Given the description of an element on the screen output the (x, y) to click on. 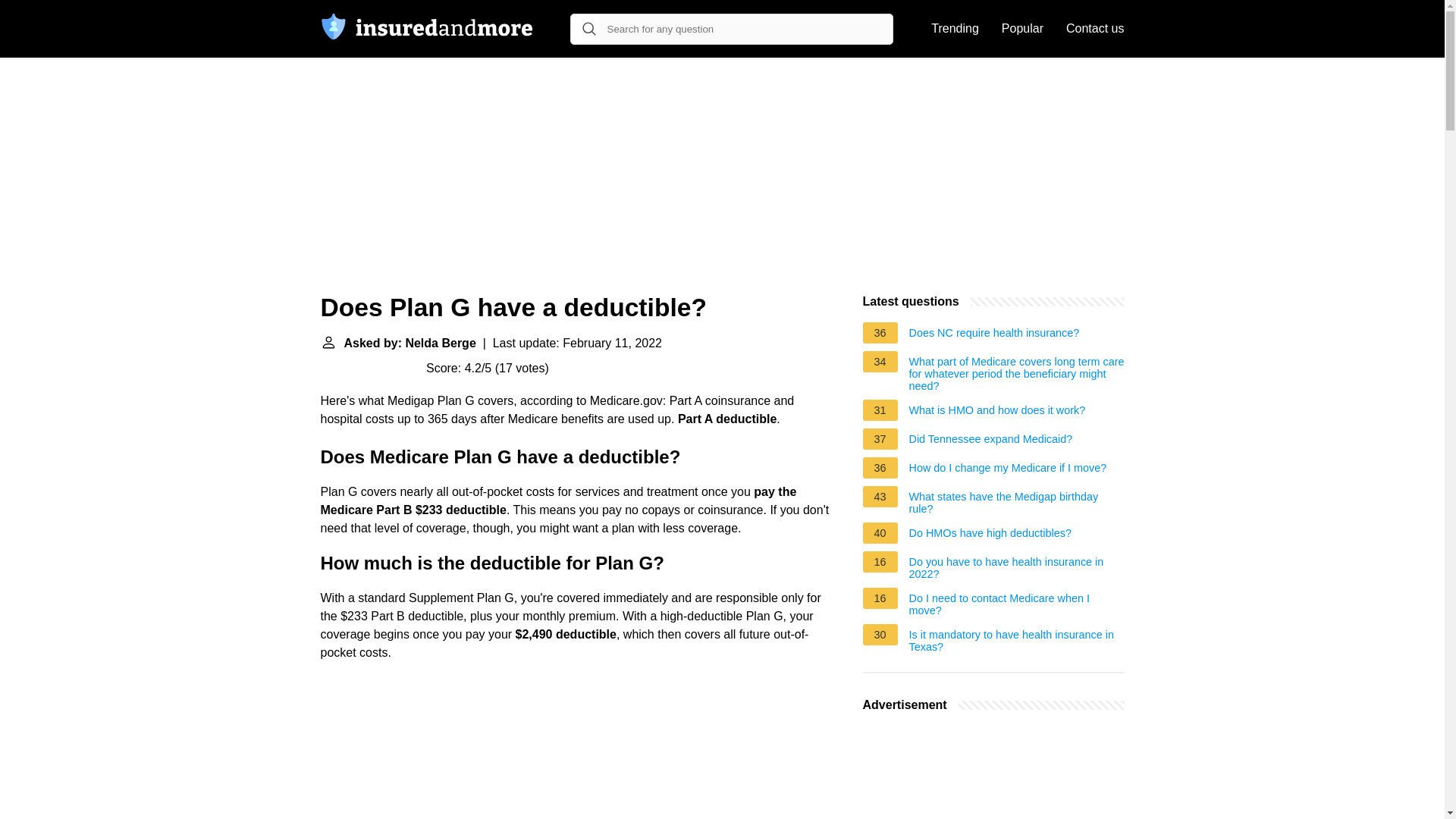
Popular (1022, 28)
Do you have to have health insurance in 2022? (1016, 567)
What states have the Medigap birthday rule? (1016, 502)
Does NC require health insurance? (994, 334)
How do I change my Medicare if I move? (1007, 469)
Trending (954, 28)
Did Tennessee expand Medicaid? (990, 441)
Do I need to contact Medicare when I move? (1016, 604)
Do HMOs have high deductibles? (989, 535)
Is it mandatory to have health insurance in Texas? (1016, 640)
What is HMO and how does it work? (997, 412)
Contact us (1094, 28)
